Given the description of an element on the screen output the (x, y) to click on. 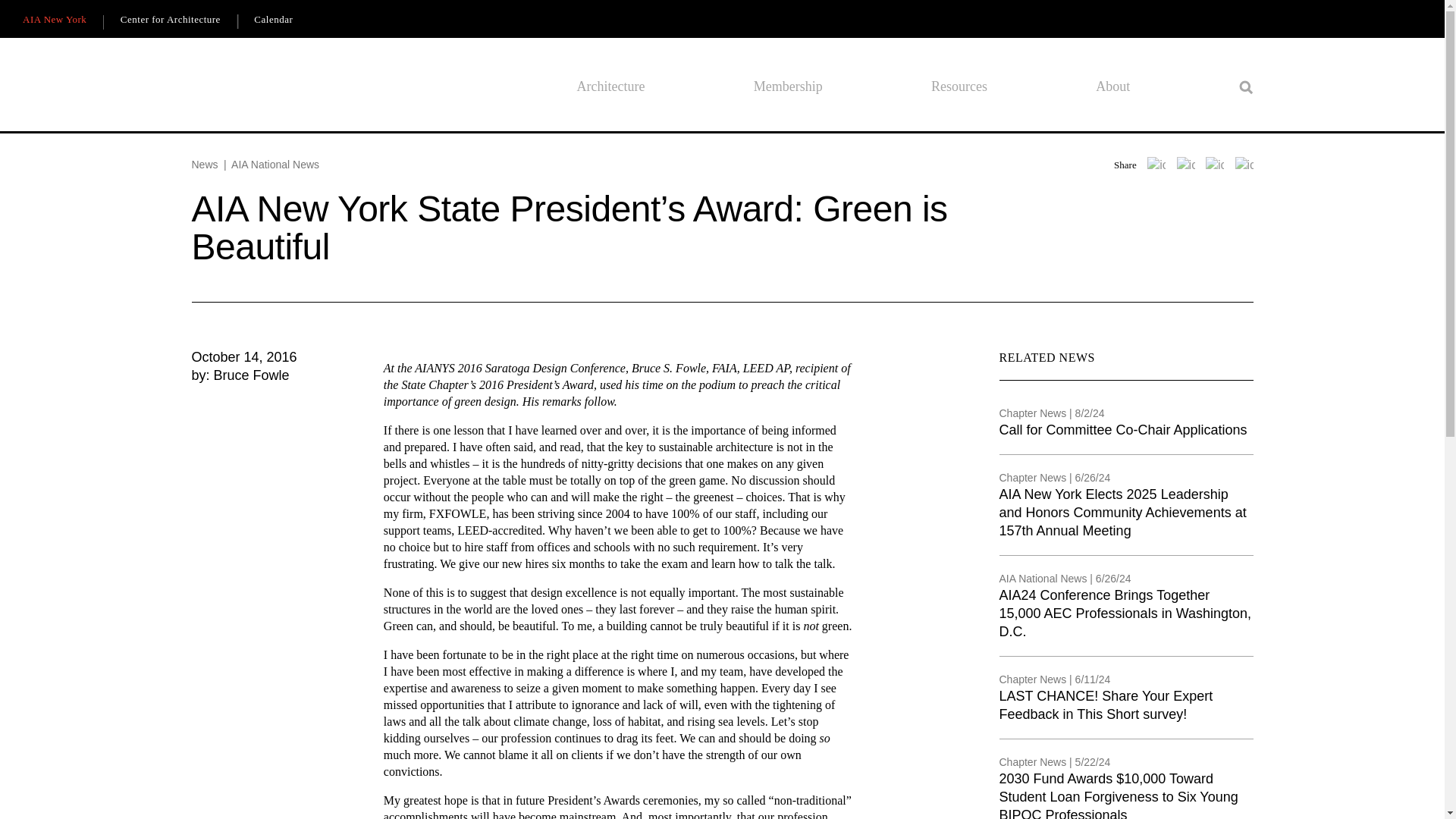
Calendar (272, 19)
About (1112, 85)
Architecture (610, 85)
AIA New York (54, 19)
Membership (788, 85)
Center for Architecture (169, 19)
Resources (959, 85)
